Given the description of an element on the screen output the (x, y) to click on. 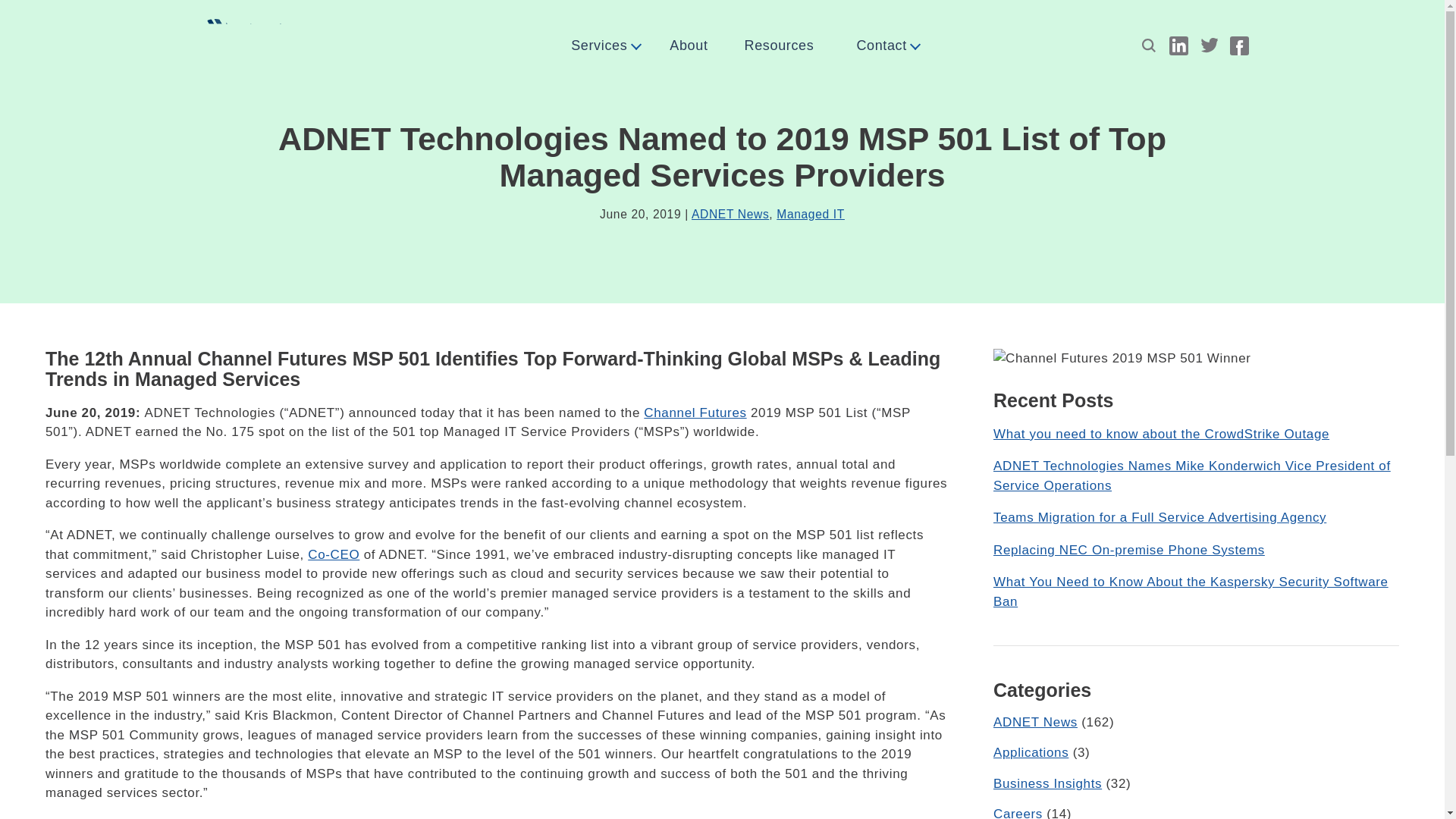
Co-CEO (333, 554)
Teams Migration for a Full Service Advertising Agency (1159, 517)
About (688, 45)
View all ADNET News posts (729, 214)
Services (604, 45)
Applications (1030, 752)
ADNET News (729, 214)
Replacing NEC On-premise Phone Systems (1128, 549)
ADNET News (1034, 721)
Contact (887, 45)
Careers (1017, 812)
What you need to know about the CrowdStrike Outage (1160, 433)
What you need to know about the CrowdStrike Outage (1160, 433)
Channel Futures (694, 412)
